Given the description of an element on the screen output the (x, y) to click on. 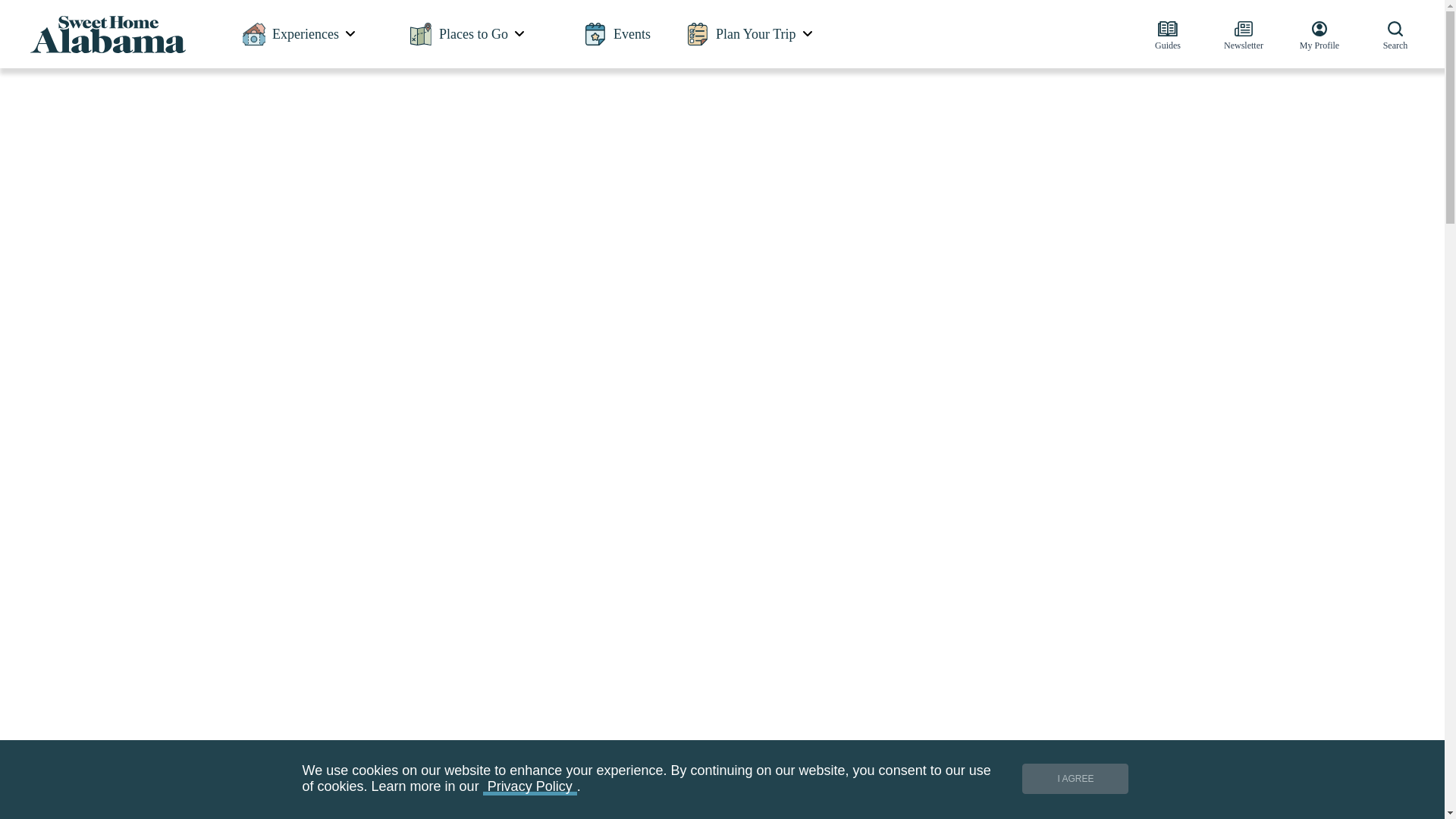
Places to Go (467, 33)
Experiences (299, 33)
